Given the description of an element on the screen output the (x, y) to click on. 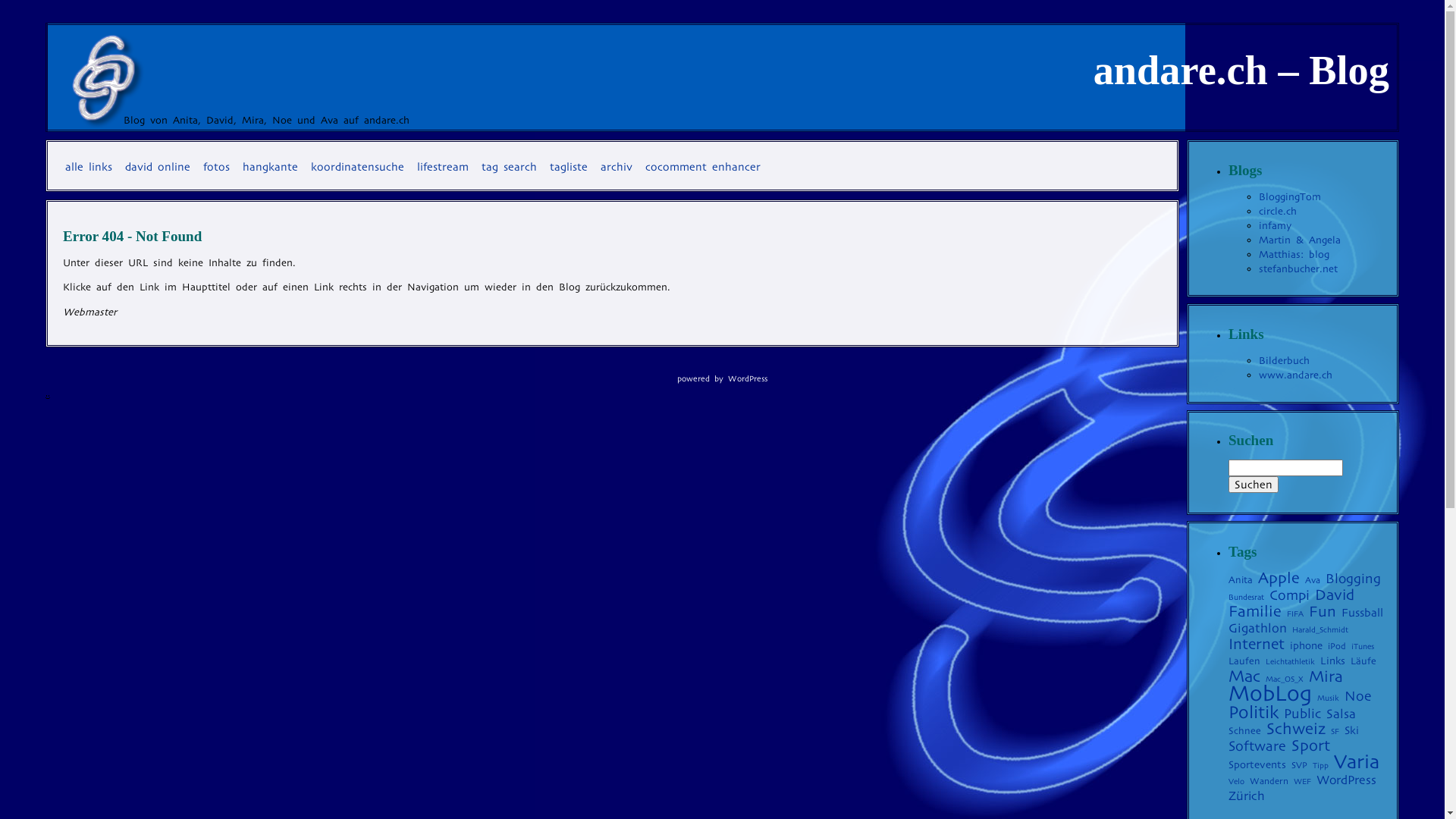
Anita Element type: text (1240, 579)
Politik Element type: text (1253, 711)
David Element type: text (1334, 594)
Compi Element type: text (1289, 594)
Leichtathletik Element type: text (1289, 661)
FIFA Element type: text (1294, 613)
Martin & Angela Element type: text (1299, 239)
Suchen Element type: text (1253, 484)
Apple Element type: text (1278, 577)
Matthias: blog Element type: text (1293, 254)
www.andare.ch Element type: text (1295, 374)
lifestream Element type: text (442, 166)
hangkante Element type: text (270, 166)
infamy Element type: text (1274, 225)
archiv Element type: text (616, 166)
Schnee Element type: text (1244, 730)
Musik Element type: text (1328, 697)
Blogging Element type: text (1352, 578)
WordPress Element type: text (747, 377)
Mac Element type: text (1244, 675)
Velo Element type: text (1236, 781)
Public Element type: text (1302, 713)
SF Element type: text (1334, 731)
Ski Element type: text (1351, 730)
iPod Element type: text (1336, 645)
Tipp Element type: text (1320, 765)
Harald_Schmidt Element type: text (1320, 629)
MobLog Element type: text (1269, 693)
Familie Element type: text (1254, 611)
Varia Element type: text (1356, 761)
Laufen Element type: text (1244, 660)
WEF Element type: text (1302, 781)
Mac_OS_X Element type: text (1284, 678)
iphone Element type: text (1305, 645)
Sport Element type: text (1310, 745)
SVP Element type: text (1299, 764)
Fussball Element type: text (1362, 611)
Software Element type: text (1257, 745)
circle.ch Element type: text (1277, 210)
Mira Element type: text (1325, 676)
WordPress Element type: text (1346, 779)
fotos Element type: text (216, 166)
Bundesrat Element type: text (1246, 597)
Fun Element type: text (1322, 611)
Gigathlon Element type: text (1257, 628)
stefanbucher.net Element type: text (1297, 268)
BloggingTom Element type: text (1289, 196)
alle links Element type: text (88, 166)
david online Element type: text (157, 166)
tag search Element type: text (508, 166)
cocomment enhancer Element type: text (702, 166)
Ava Element type: text (1312, 579)
Bilderbuch Element type: text (1283, 360)
Sportevents Element type: text (1257, 764)
Internet Element type: text (1256, 643)
tagliste Element type: text (568, 166)
Schweiz Element type: text (1295, 728)
Links Element type: text (1332, 660)
Salsa Element type: text (1340, 713)
Noe Element type: text (1357, 695)
iTunes Element type: text (1362, 646)
koordinatensuche Element type: text (357, 166)
Wandern Element type: text (1268, 780)
